Given the description of an element on the screen output the (x, y) to click on. 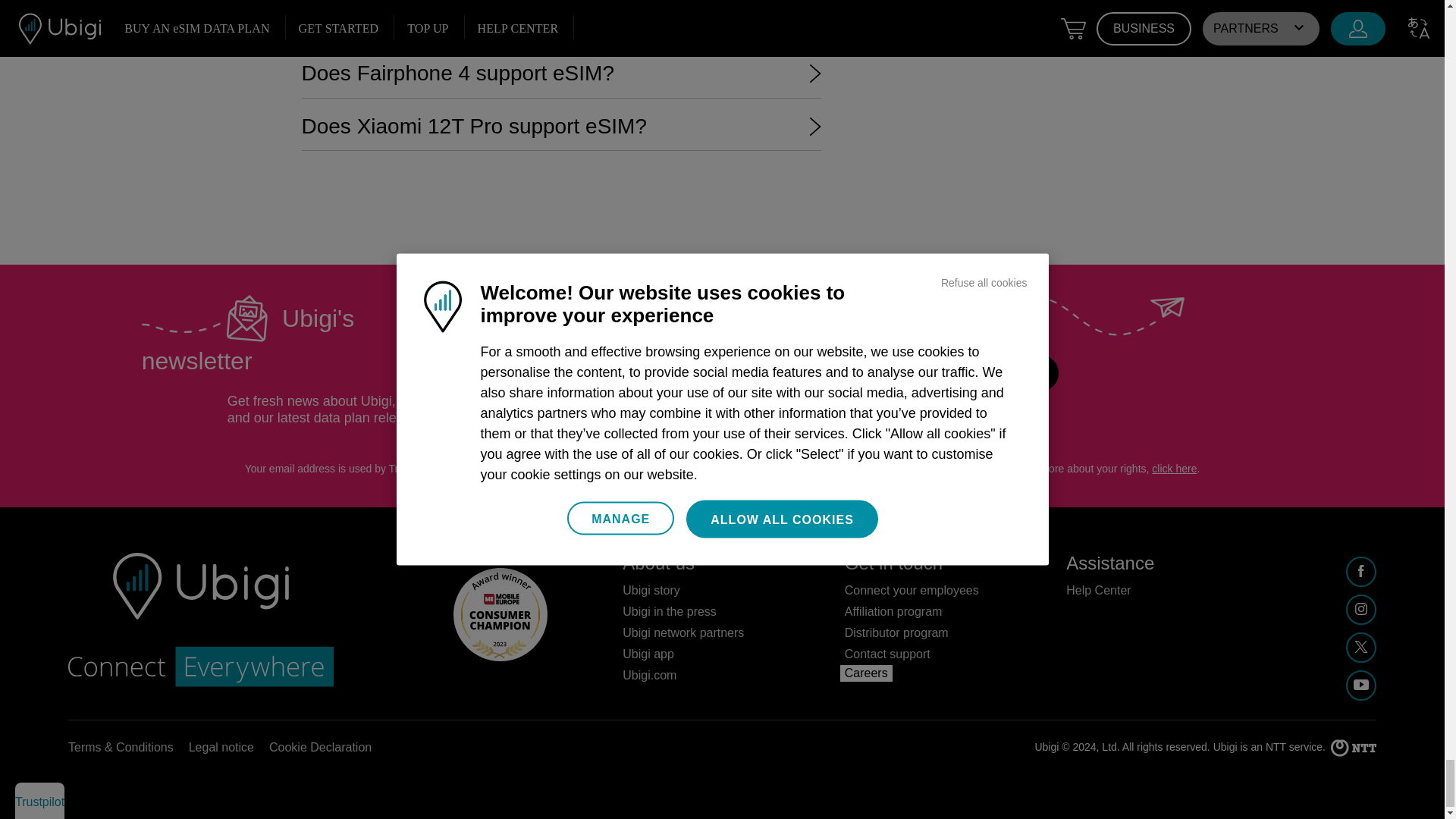
1 (596, 368)
Subscribe (998, 372)
